Given the description of an element on the screen output the (x, y) to click on. 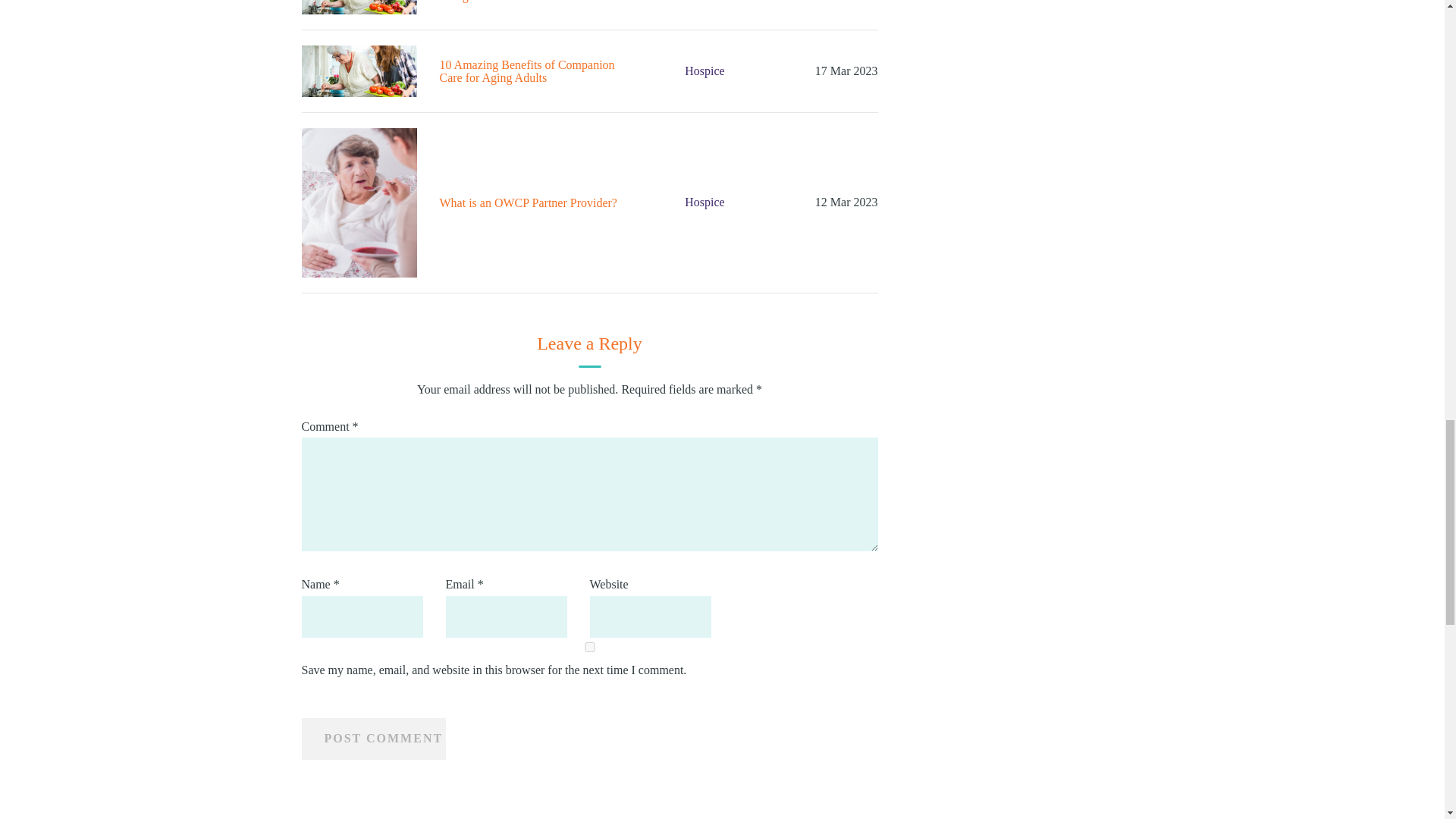
How to Become a Companion Caregiver for Seniors (358, 71)
yes (589, 646)
Post Comment (373, 738)
How to Become a Companion Caregiver for Seniors (358, 7)
s6 (358, 202)
